Given the description of an element on the screen output the (x, y) to click on. 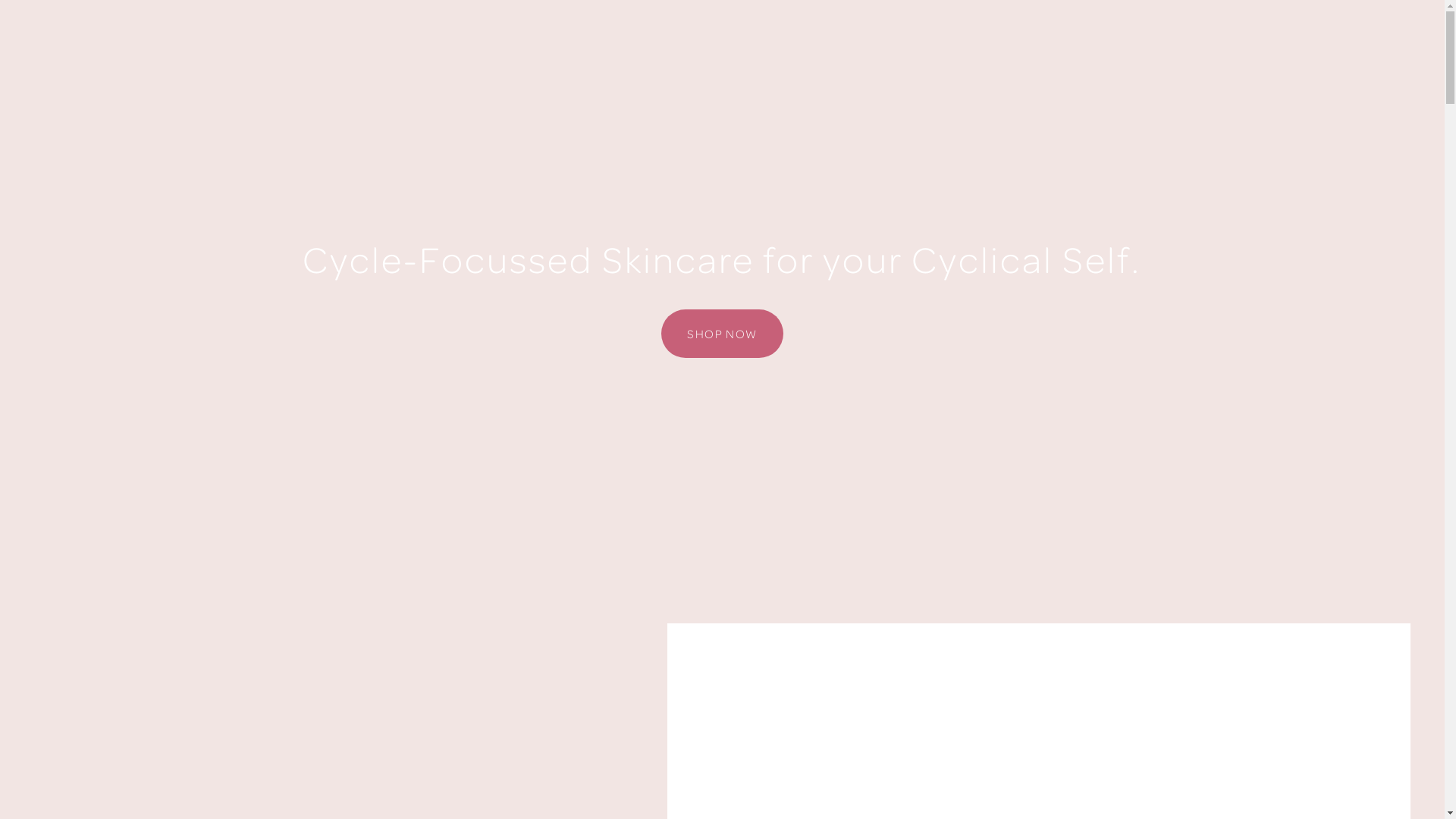
SHOP NOW Element type: text (722, 333)
